Given the description of an element on the screen output the (x, y) to click on. 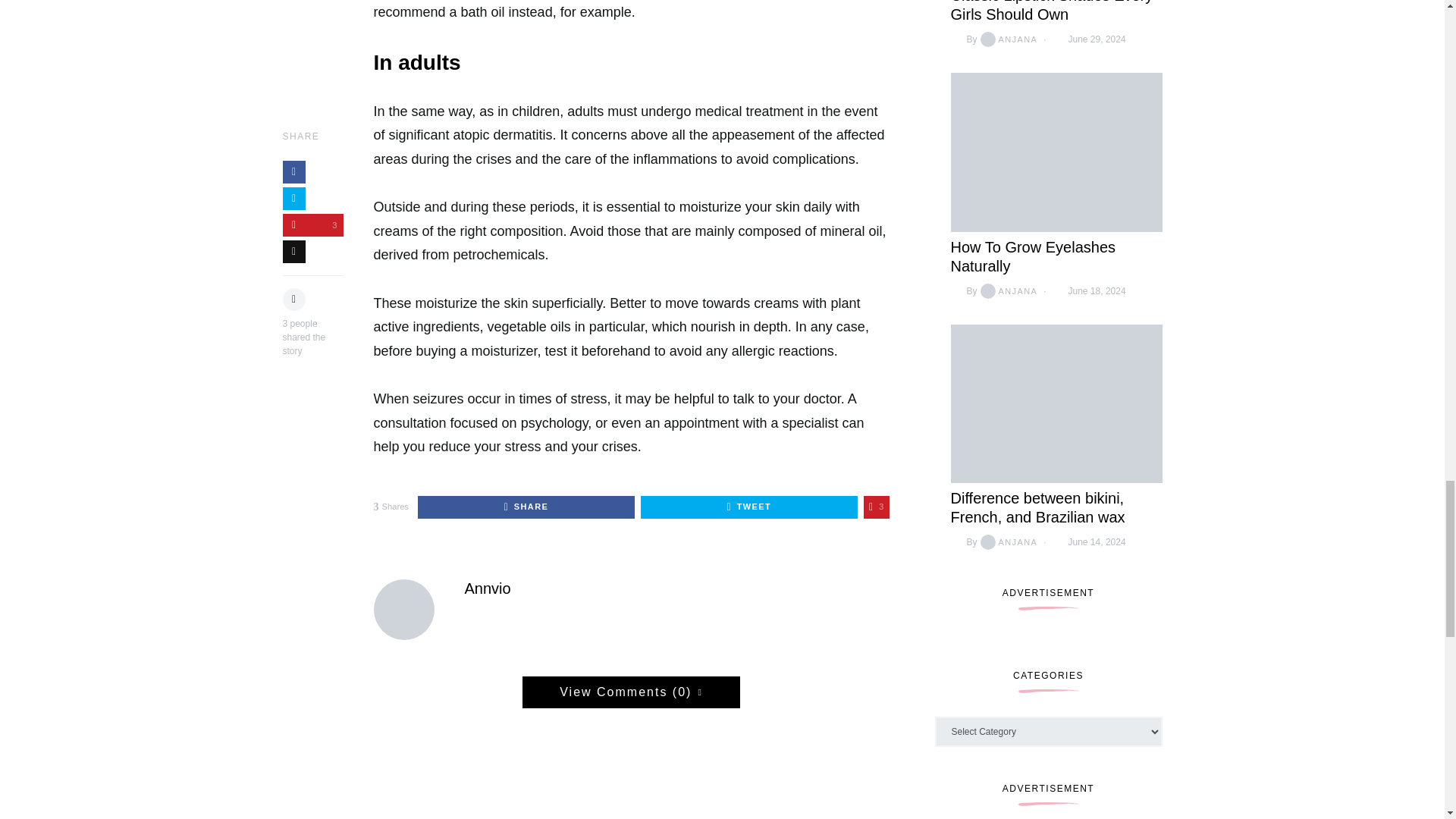
Difference between bikini, French, and Brazilian wax (1037, 507)
Classic Lipstick Shades Every Girls Should Own (1051, 11)
View all posts by Anjana (1007, 290)
TWEET (748, 507)
3 (876, 507)
SHARE (525, 507)
View all posts by Anjana (1007, 542)
View all posts by Anjana (1007, 39)
How To Grow Eyelashes Naturally (1033, 256)
